Given the description of an element on the screen output the (x, y) to click on. 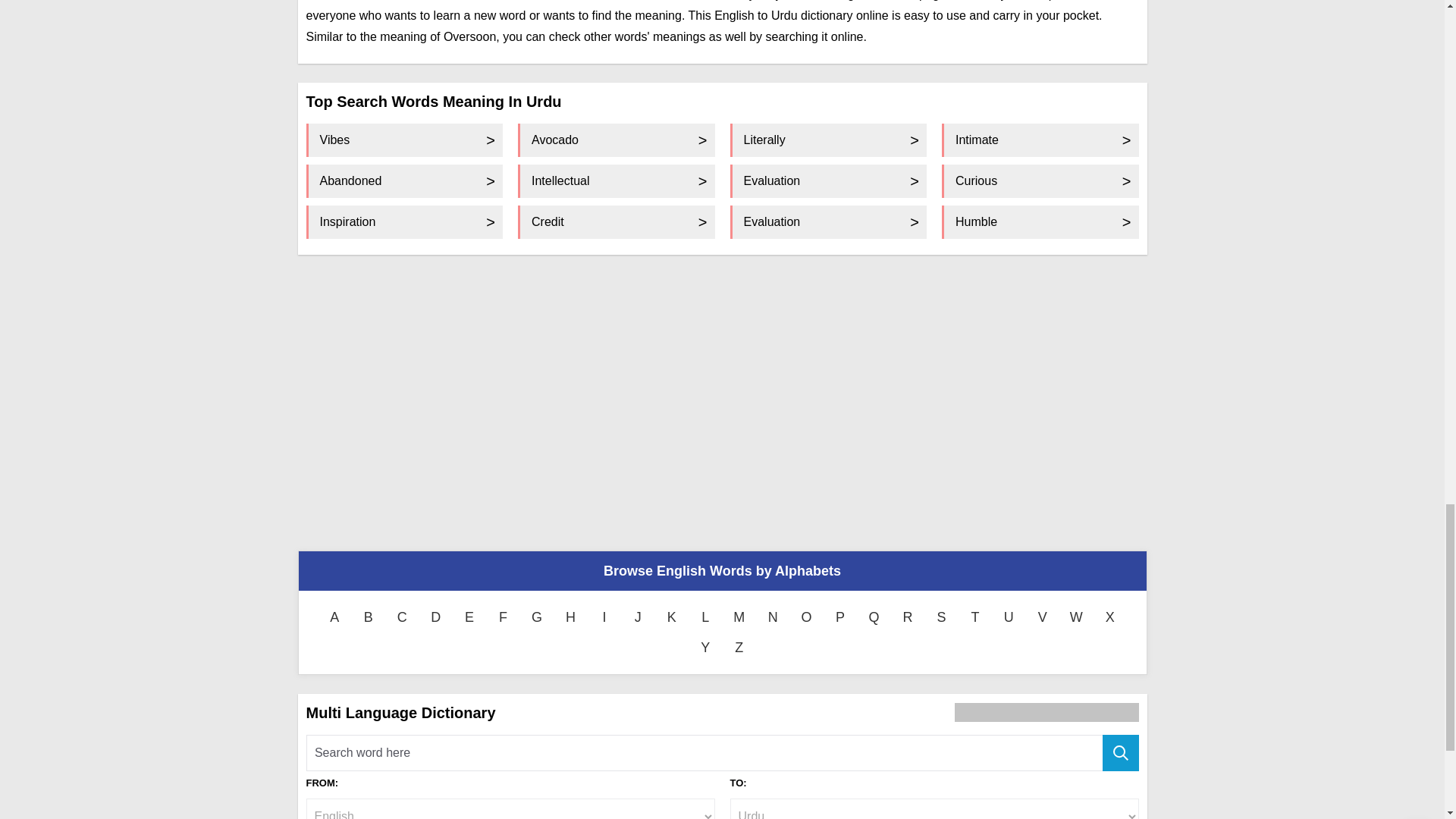
Vibes (404, 140)
Inspiration (404, 222)
Evaluation (827, 181)
Literally (827, 140)
Intimate (1040, 140)
Curious (1040, 181)
Abandoned (404, 181)
Credit (616, 222)
Intellectual (616, 181)
Avocado (616, 140)
